Given the description of an element on the screen output the (x, y) to click on. 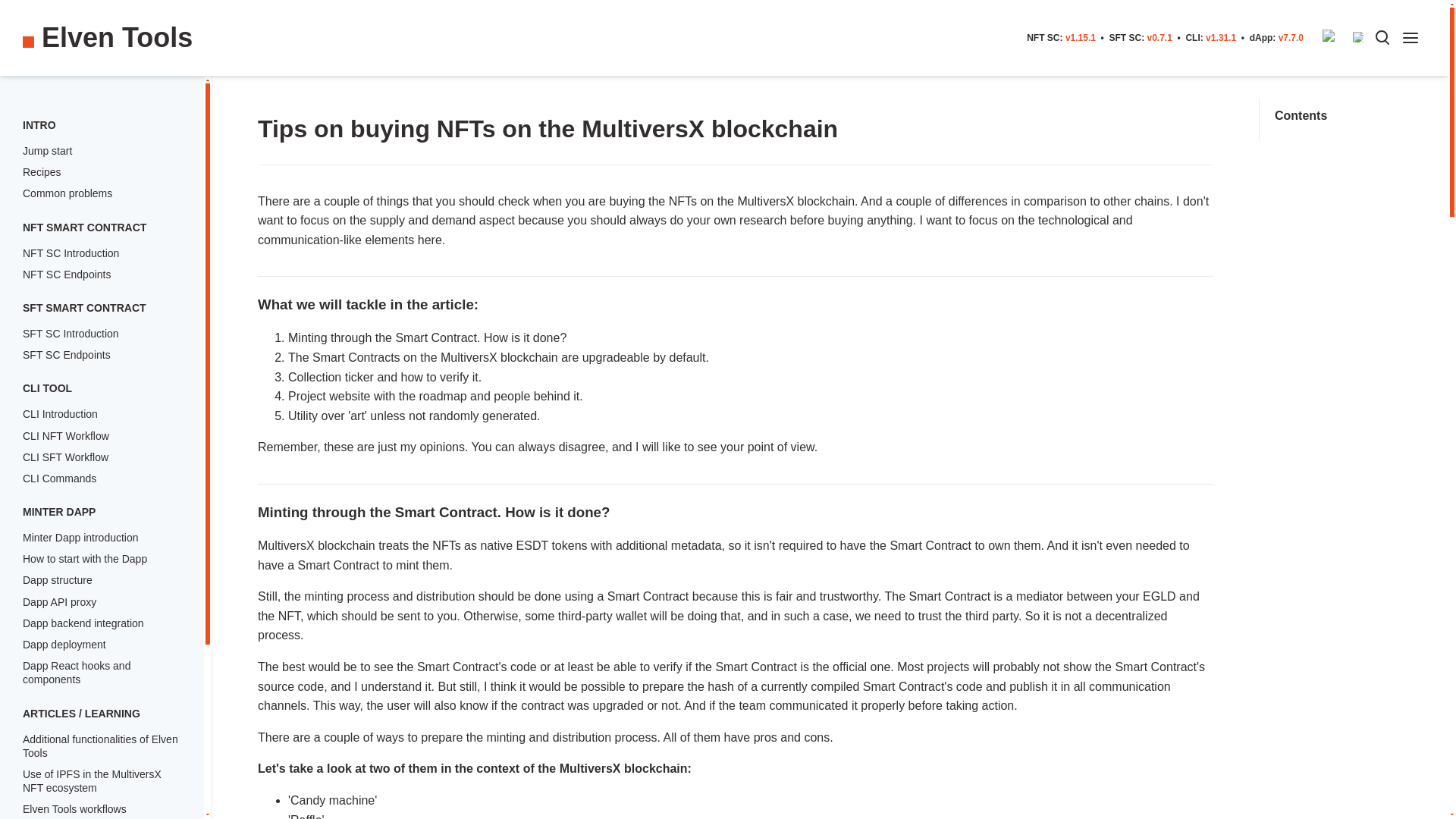
SFT SC Introduction (71, 333)
Elven Tools (117, 37)
CLI Introduction (60, 413)
v1.15.1 (1080, 37)
Common problems (67, 193)
Dapp React hooks and components (77, 672)
How to start with the Dapp (85, 558)
v1.31.1 (1220, 37)
CLI NFT Workflow (66, 435)
v0.7.1 (1159, 37)
